Given the description of an element on the screen output the (x, y) to click on. 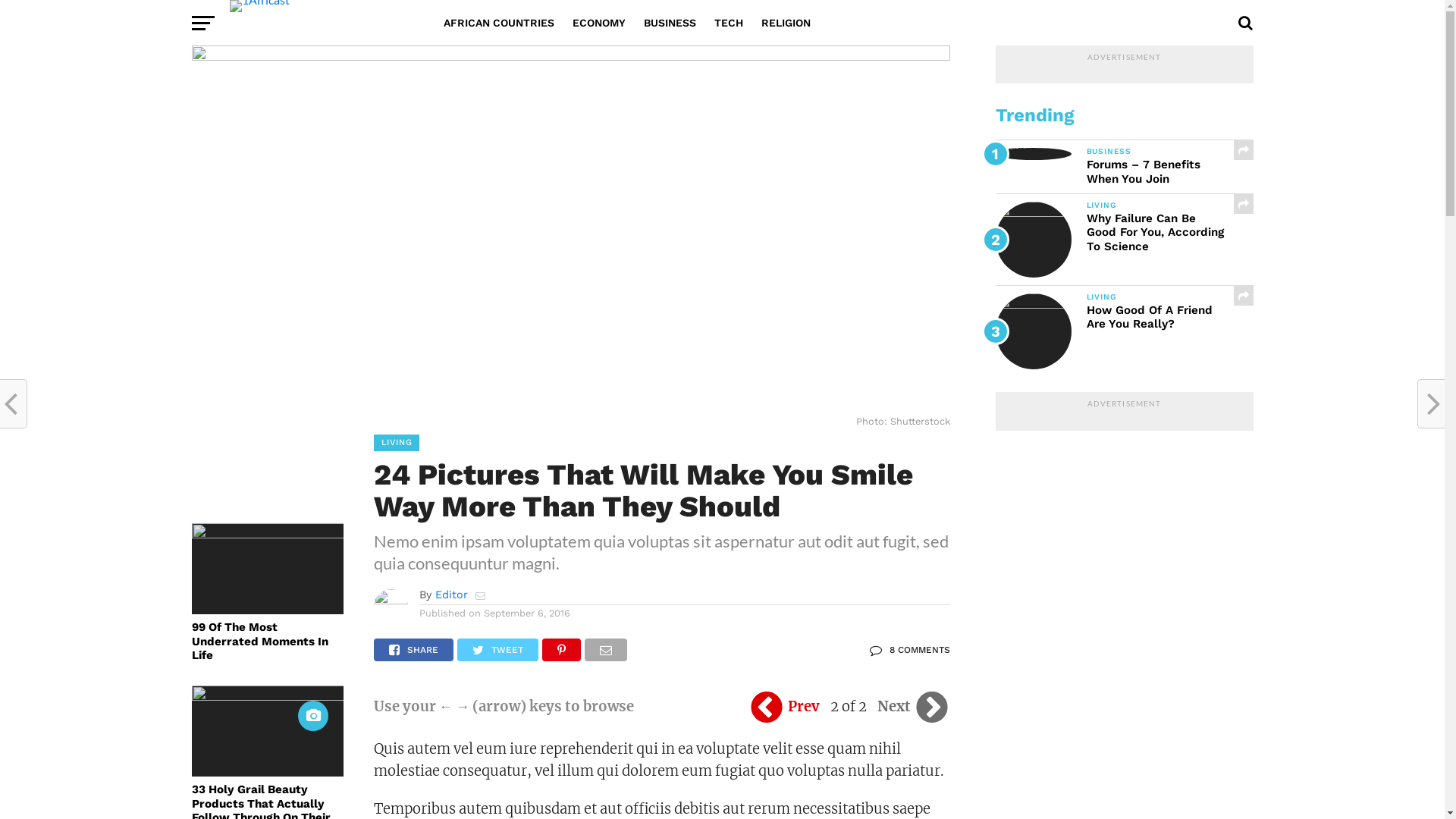
99 Of The Most Underrated Moments In Life Element type: hover (266, 533)
99 Of The Most Underrated Moments In Life Element type: text (266, 641)
Editor Element type: text (451, 594)
TECH Element type: text (728, 22)
BUSINESS Element type: text (668, 22)
ECONOMY Element type: text (597, 22)
AFRICAN COUNTRIES Element type: text (497, 22)
RELIGION Element type: text (785, 22)
Prev Element type: text (784, 706)
